Given the description of an element on the screen output the (x, y) to click on. 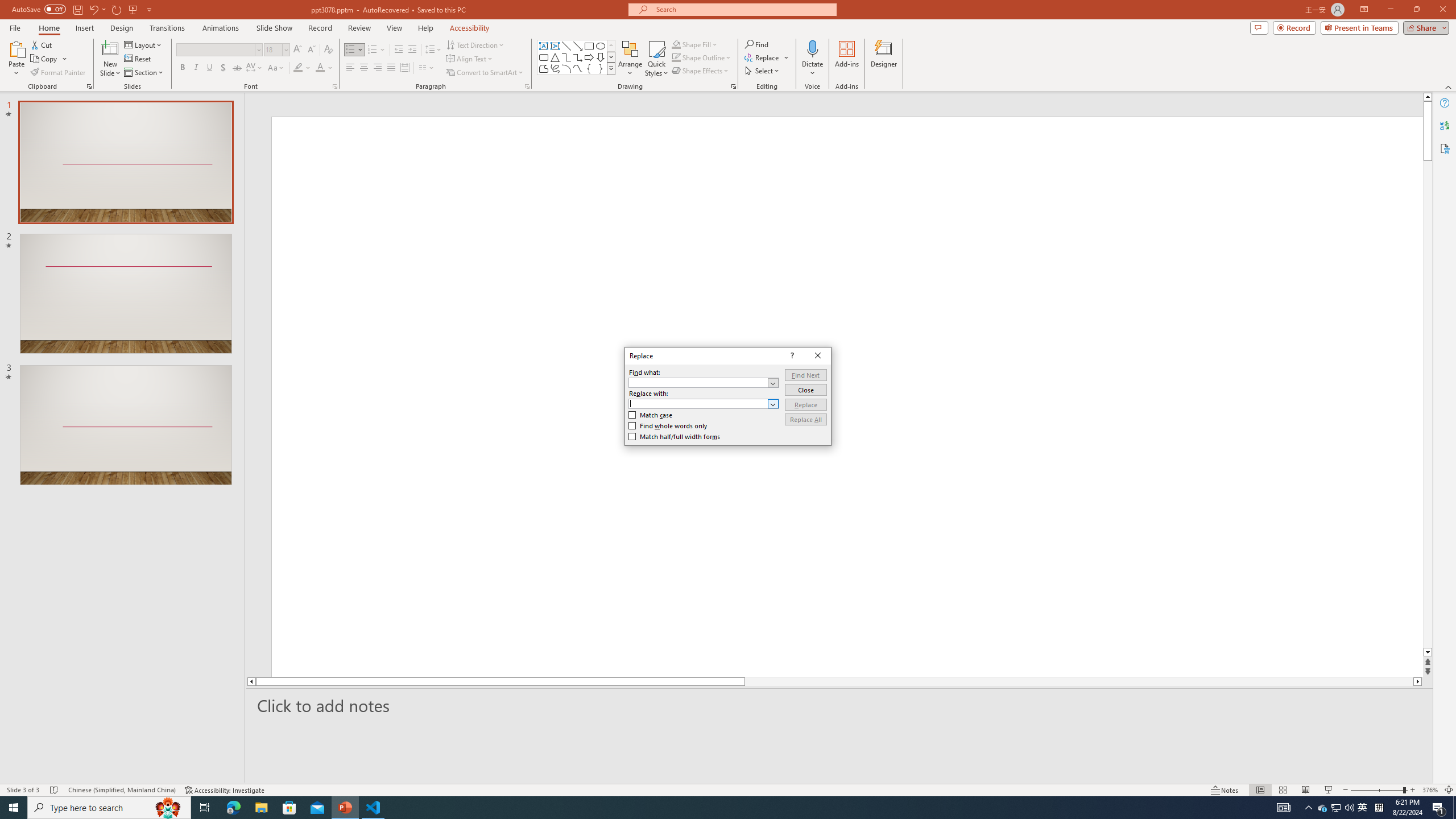
Office Clipboard... (88, 85)
Search highlights icon opens search home window (167, 807)
AutomationID: ShapesInsertGallery (576, 57)
AutomationID: 4105 (1283, 807)
Strikethrough (237, 67)
Freeform: Shape (543, 68)
Replace with (703, 403)
Numbering (376, 49)
Text Highlight Color Yellow (297, 67)
Match half/full width forms (674, 436)
